Given the description of an element on the screen output the (x, y) to click on. 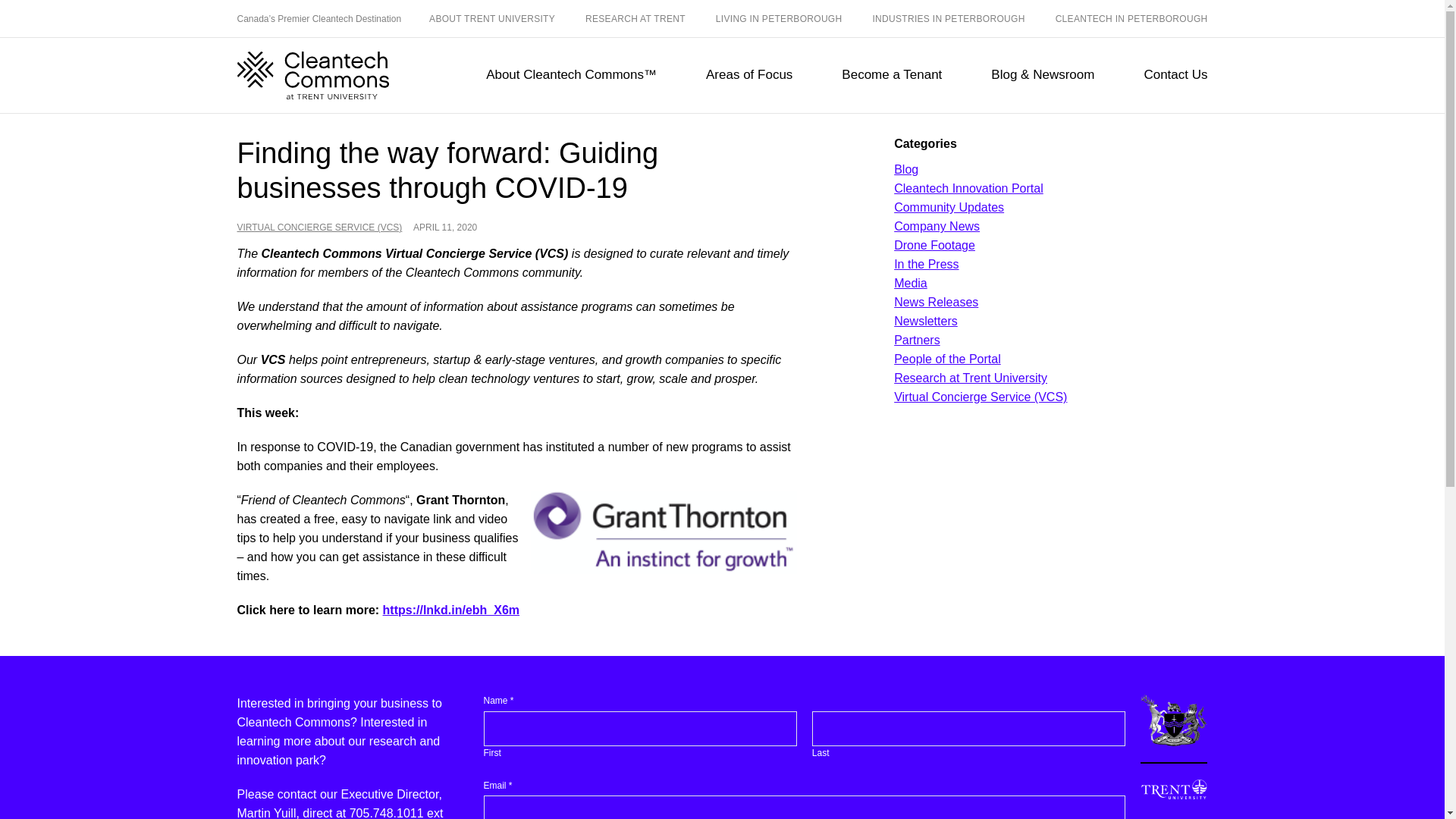
People of the Portal (947, 358)
Drone Footage (934, 245)
Areas of Focus (749, 75)
Contact Us (1174, 75)
Newsletters (925, 320)
In the Press (925, 264)
CLEANTECH IN PETERBOROUGH (1131, 19)
LIVING IN PETERBOROUGH (779, 19)
Company News (936, 226)
RESEARCH AT TRENT (635, 19)
Skip to content (12, 119)
Research at Trent University (969, 377)
Community Updates (948, 206)
ABOUT TRENT UNIVERSITY (491, 19)
Become a Tenant (891, 75)
